Given the description of an element on the screen output the (x, y) to click on. 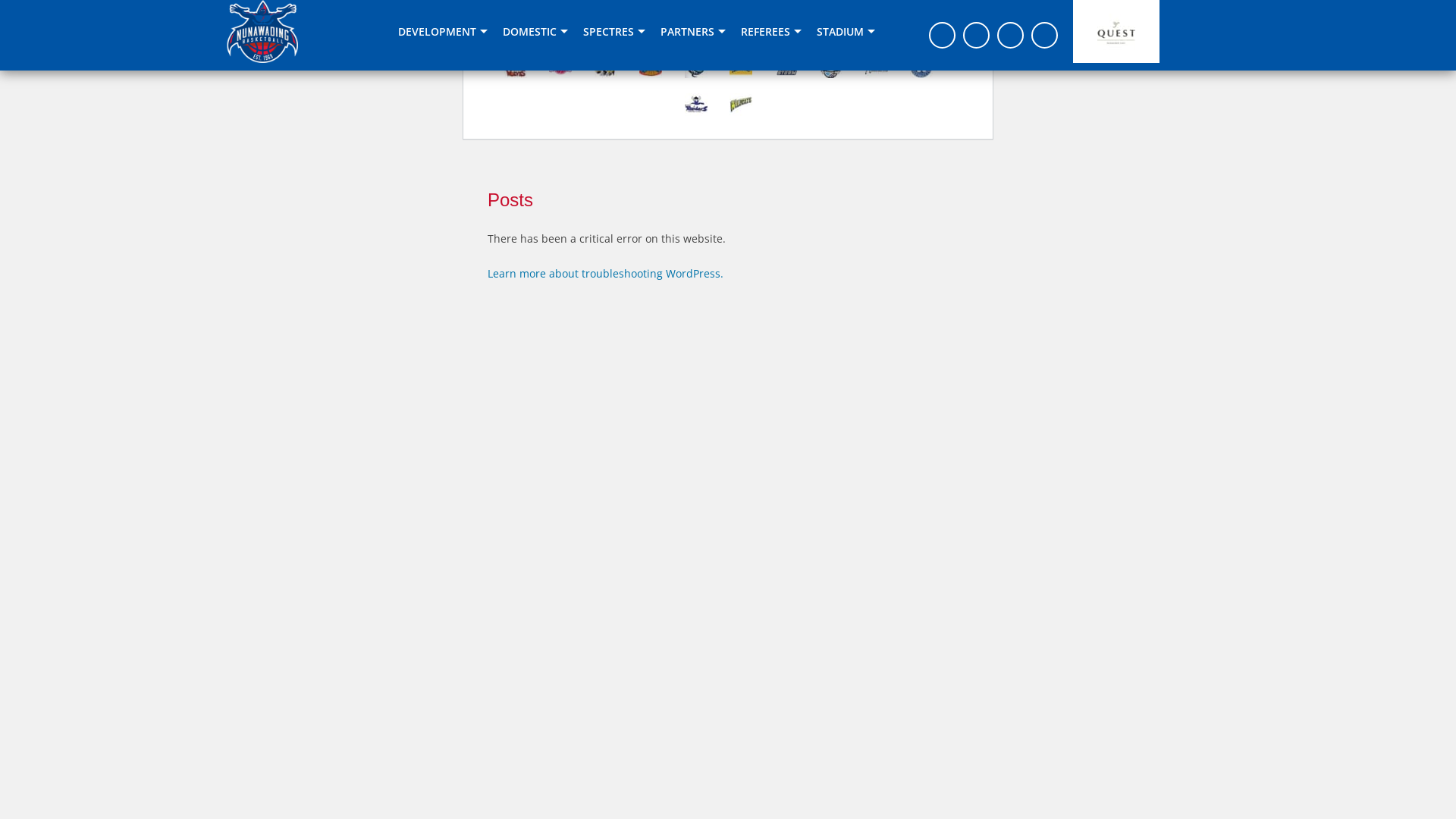
PARTNERS Element type: text (692, 31)
REFEREES Element type: text (771, 31)
SPECTRES Element type: text (613, 31)
DEVELOPMENT Element type: text (442, 31)
STADIUM Element type: text (845, 31)
DOMESTIC Element type: text (535, 31)
Learn more about troubleshooting WordPress. Element type: text (605, 273)
